Given the description of an element on the screen output the (x, y) to click on. 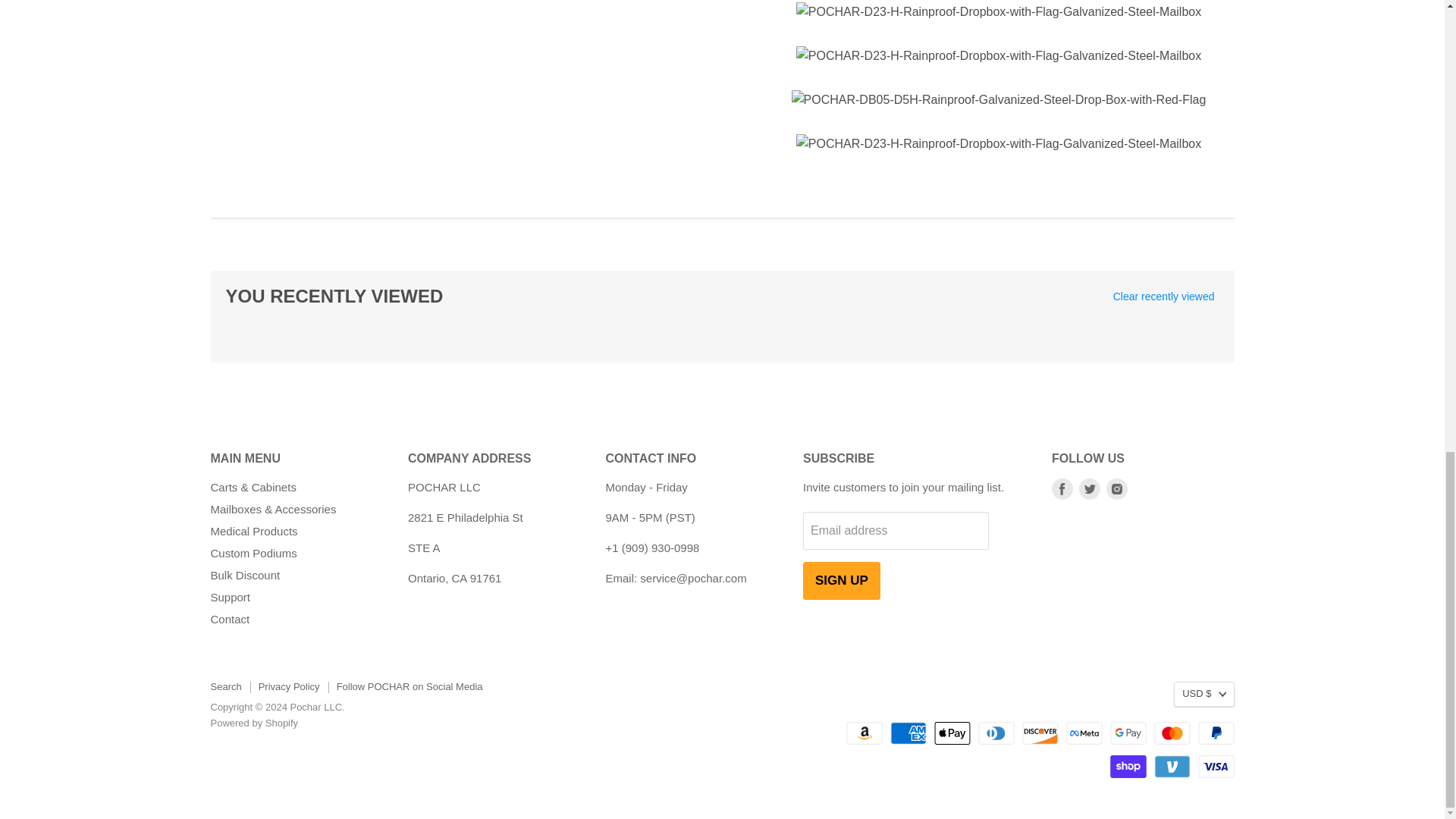
Instagram (1116, 488)
Amazon (863, 732)
American Express (907, 732)
Twitter (1089, 488)
Facebook (1062, 488)
